Given the description of an element on the screen output the (x, y) to click on. 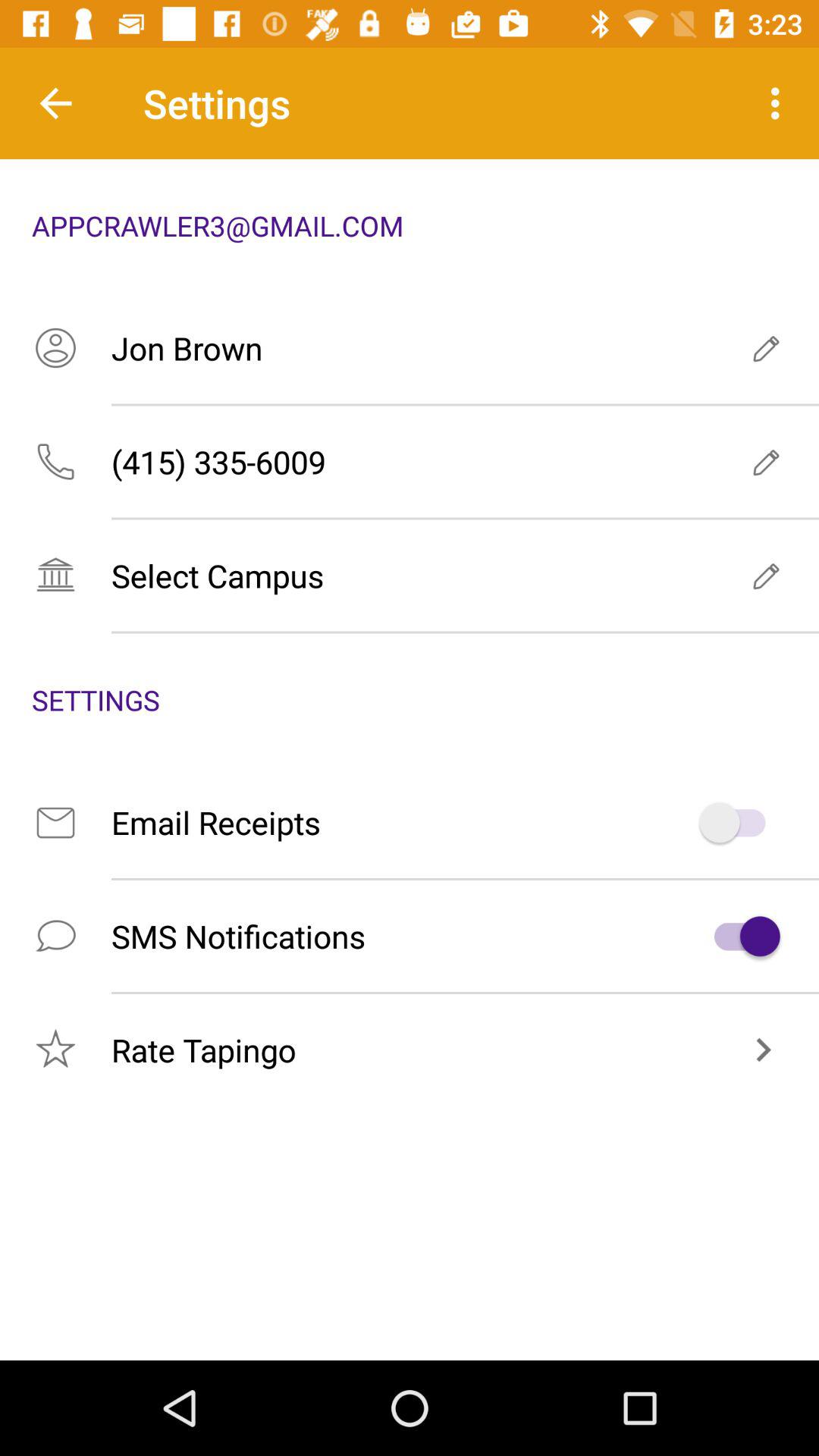
choose (415) 335-6009 item (409, 461)
